Given the description of an element on the screen output the (x, y) to click on. 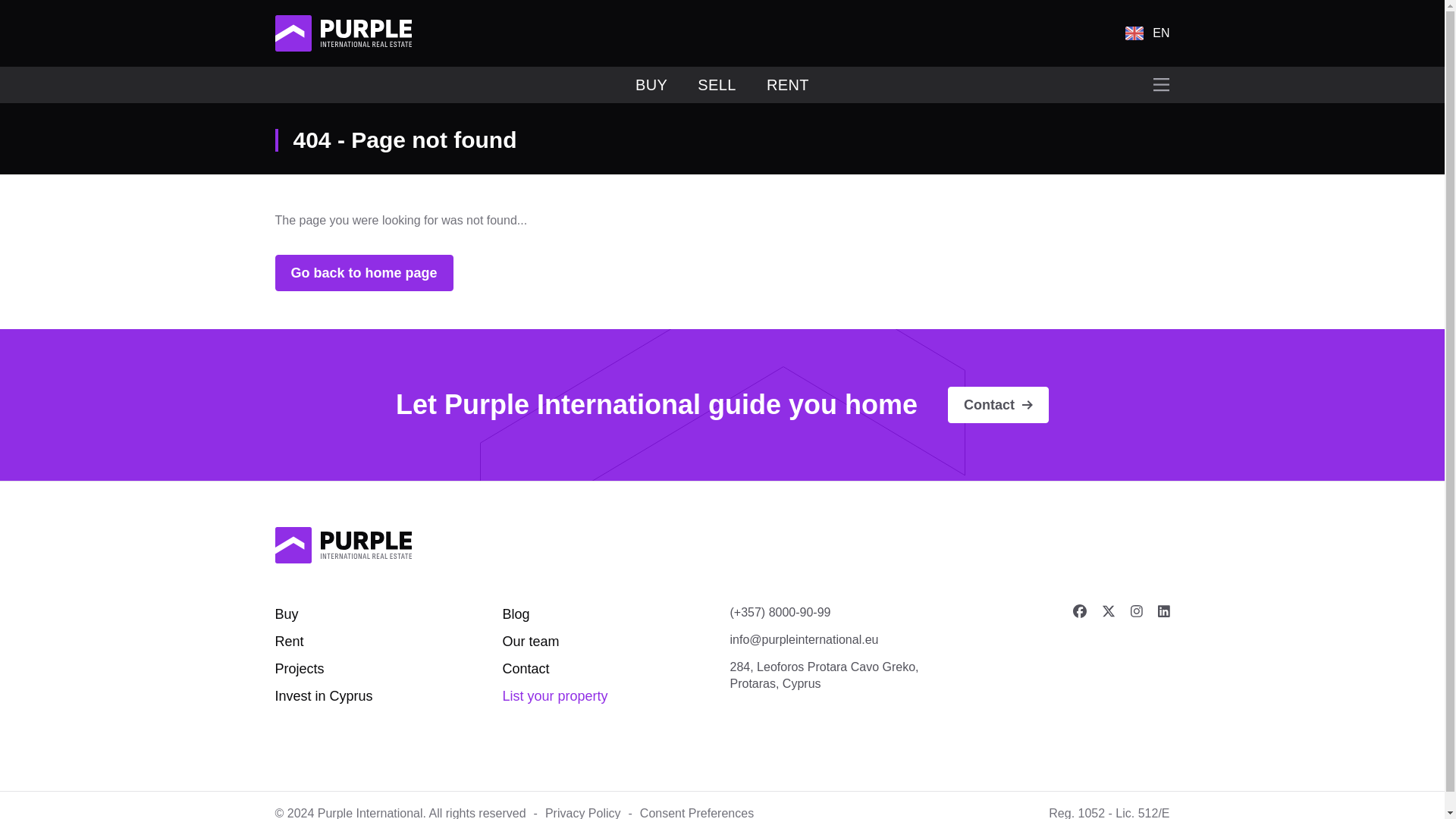
Buy (286, 613)
Blog (515, 613)
Privacy Policy (582, 812)
Our team (530, 641)
Rent (288, 641)
SELL (716, 84)
Invest in Cyprus (323, 695)
Consent Preferences (697, 812)
Contact (997, 404)
RENT (788, 84)
Projects (299, 668)
EN (1147, 32)
Go back to home page (363, 272)
Contact (525, 668)
List your property (554, 695)
